Given the description of an element on the screen output the (x, y) to click on. 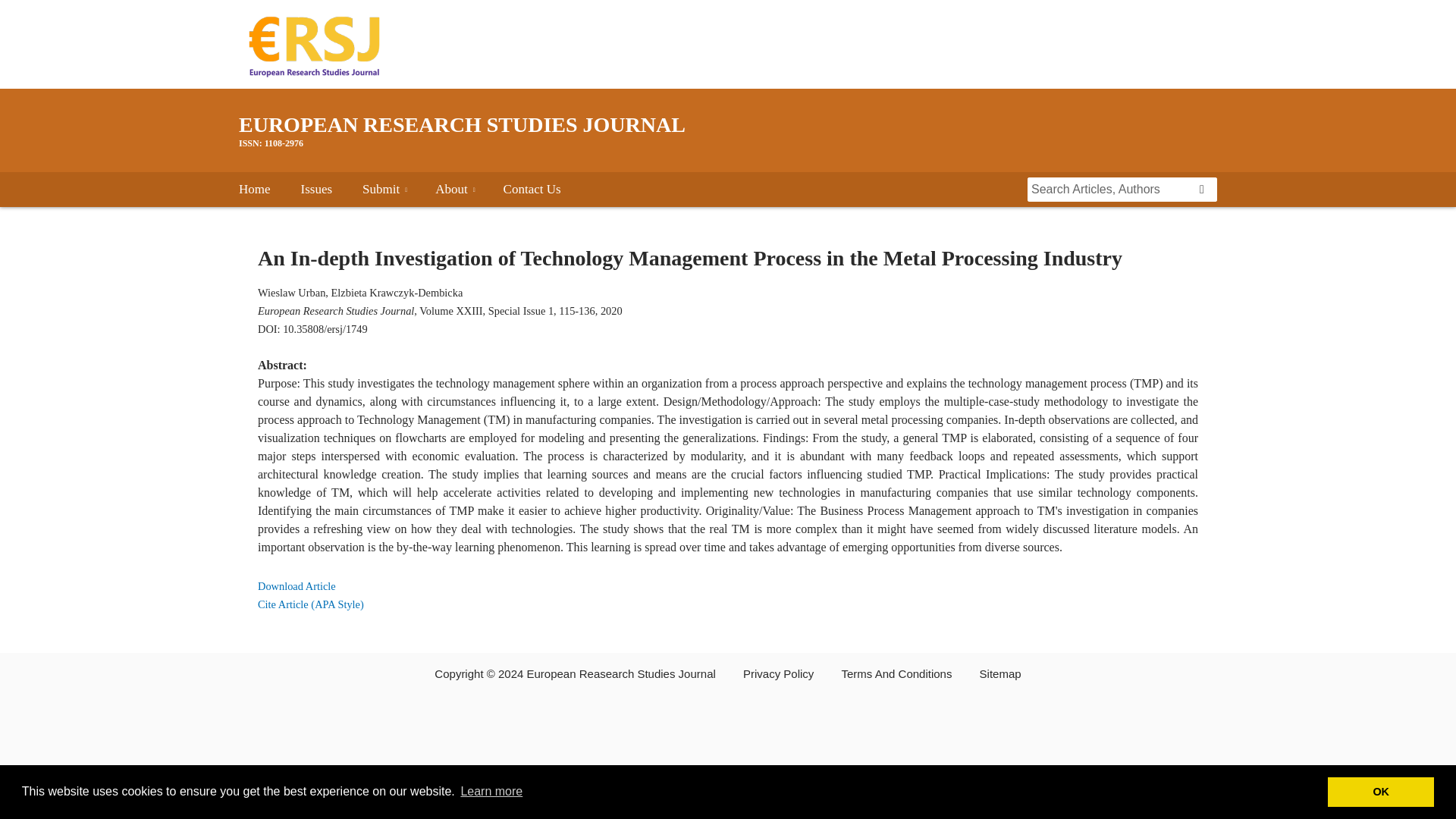
search input (1110, 189)
Download Article (296, 585)
Learn more (491, 791)
European Research Studies Journal (727, 129)
About (451, 189)
Issues (317, 189)
Submit (380, 189)
OK (1380, 791)
Home (254, 189)
Contact Us (531, 189)
Privacy Policy (777, 673)
Sitemap (1000, 673)
Terms And Conditions (896, 673)
